Given the description of an element on the screen output the (x, y) to click on. 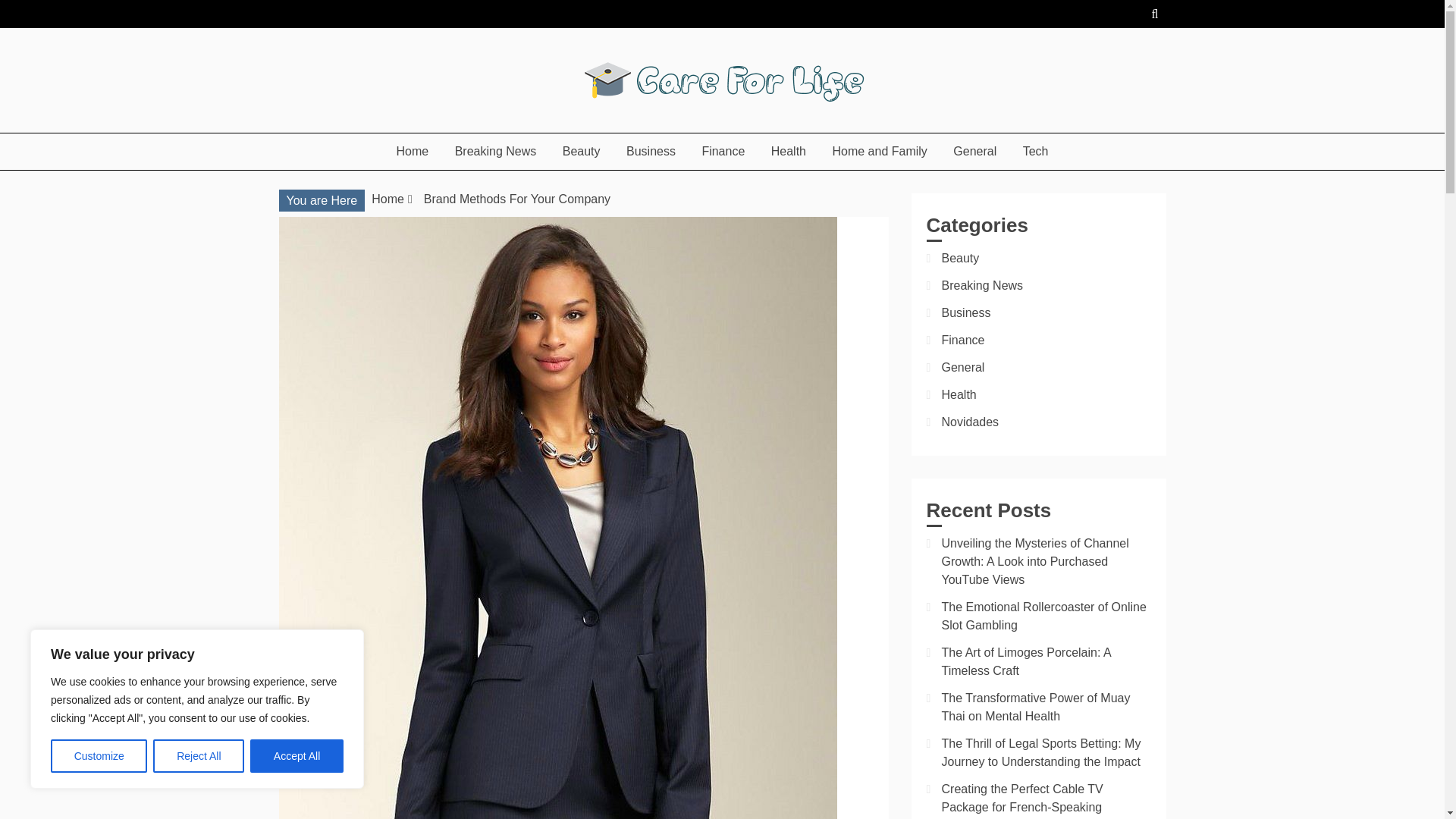
Breaking News (496, 150)
General (974, 150)
Home and Family (879, 150)
Health (788, 150)
Home (413, 150)
Finance (722, 150)
Accept All (296, 756)
Home (387, 198)
Tech (1035, 150)
Beauty (581, 150)
